Given the description of an element on the screen output the (x, y) to click on. 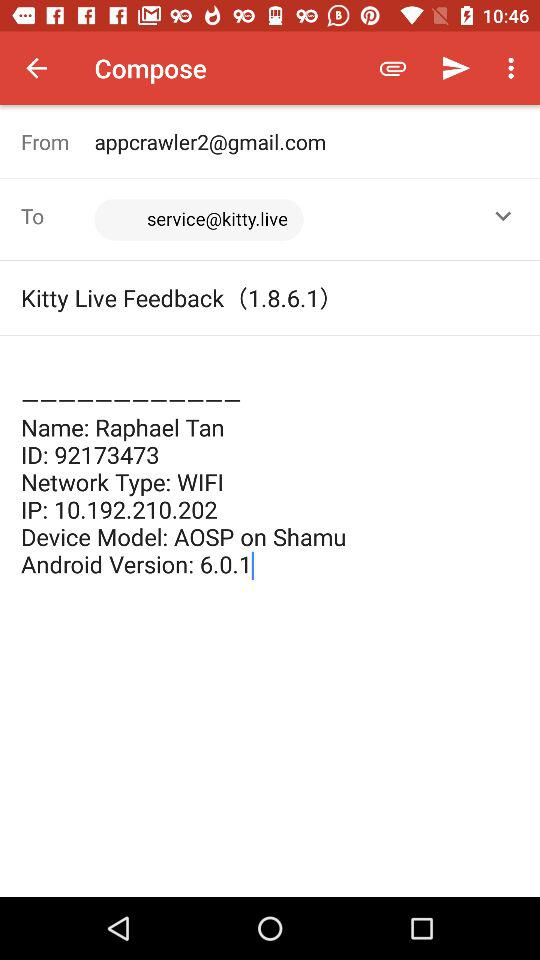
turn off icon below the name raphael tan item (270, 748)
